Given the description of an element on the screen output the (x, y) to click on. 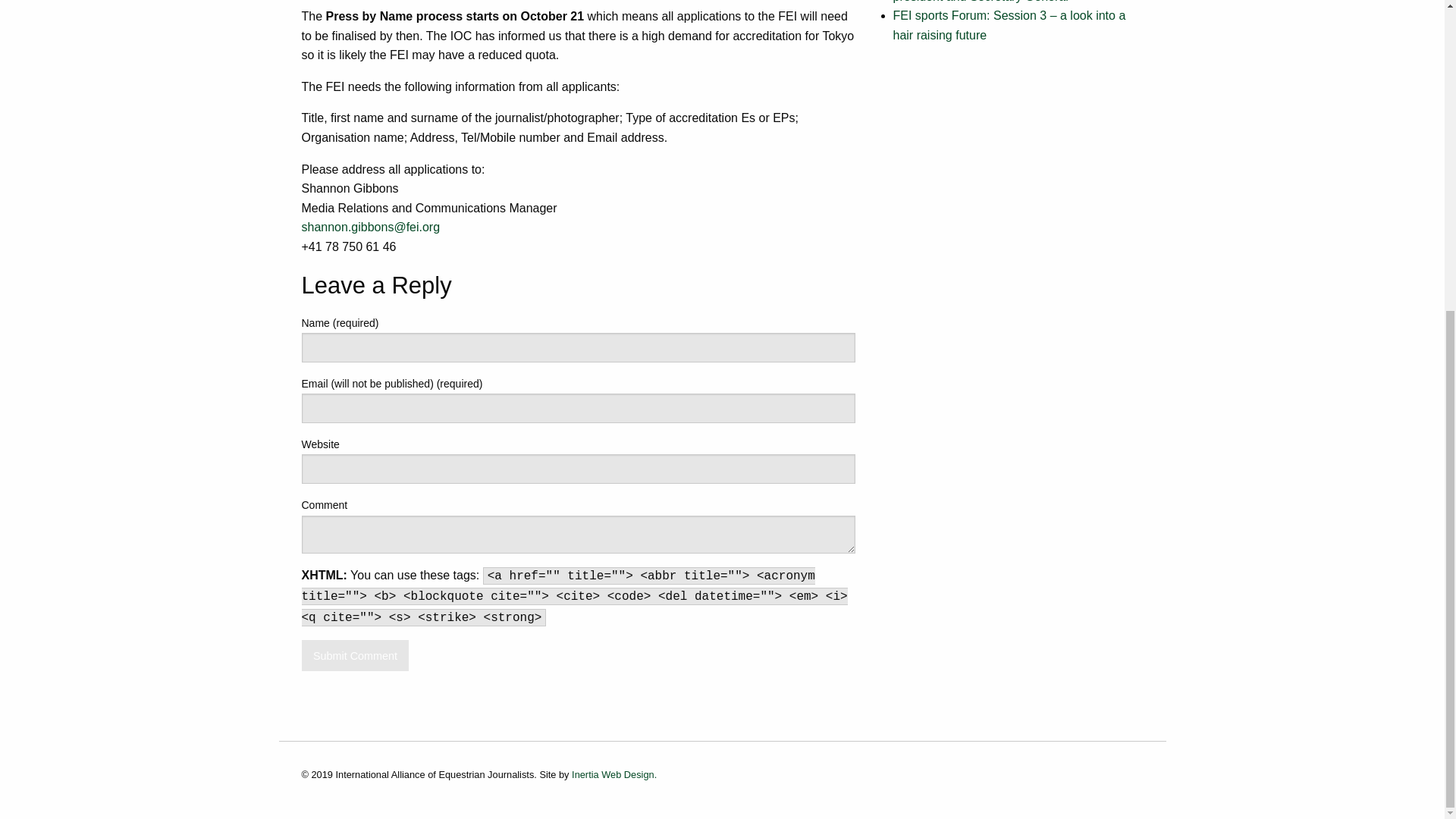
Inertia Web Design. (614, 774)
Submit Comment (355, 654)
Submit Comment (355, 654)
